Given the description of an element on the screen output the (x, y) to click on. 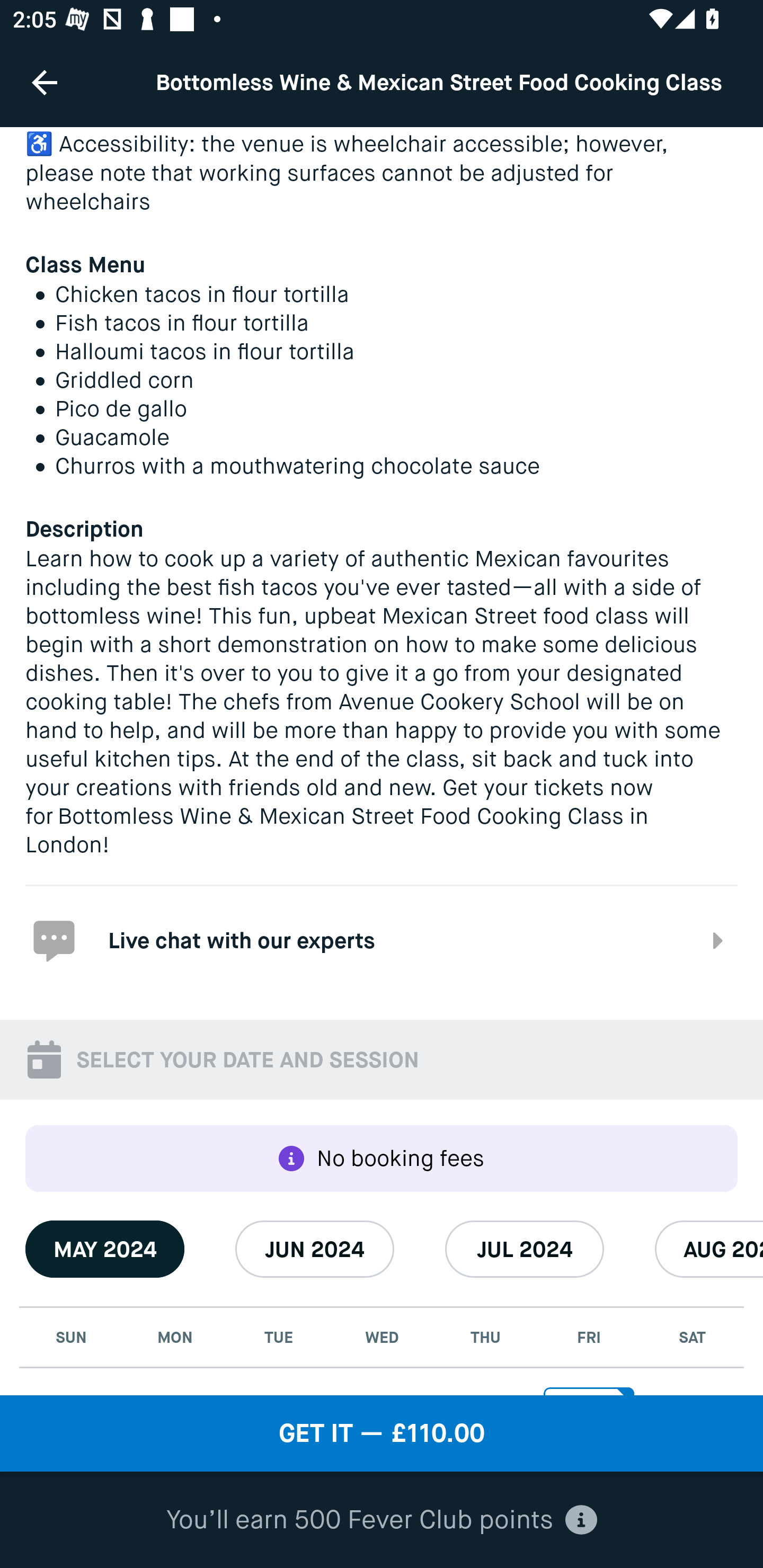
Navigate up (44, 82)
Live chat with our experts (381, 939)
MAY 2024 (104, 1248)
JUN 2024 (314, 1248)
JUL 2024 (524, 1248)
AUG 2024 (708, 1248)
GET IT — £110.00 (381, 1433)
You’ll earn 500 Fever Club points (381, 1519)
